Given the description of an element on the screen output the (x, y) to click on. 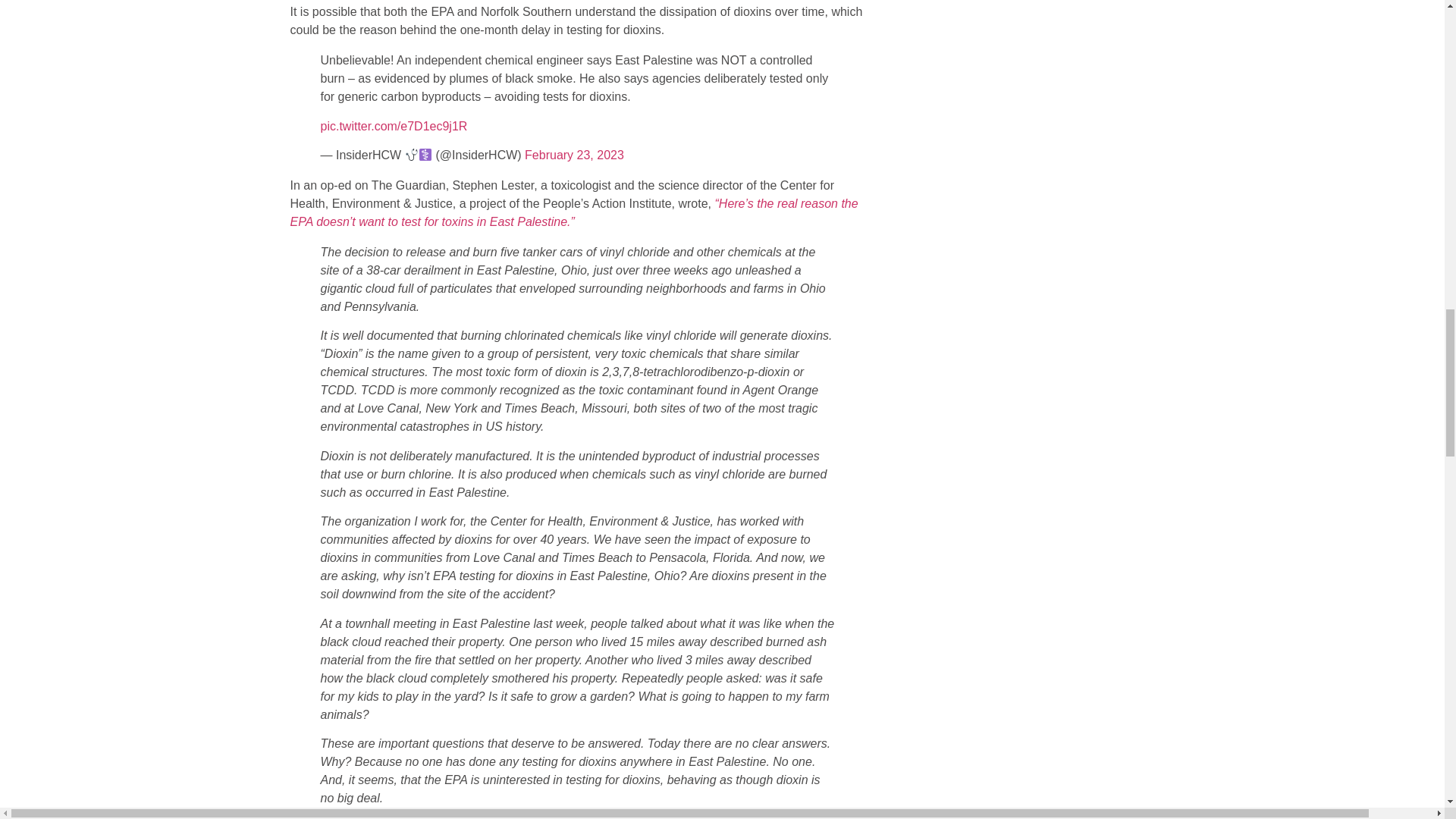
February 23, 2023 (574, 154)
